Given the description of an element on the screen output the (x, y) to click on. 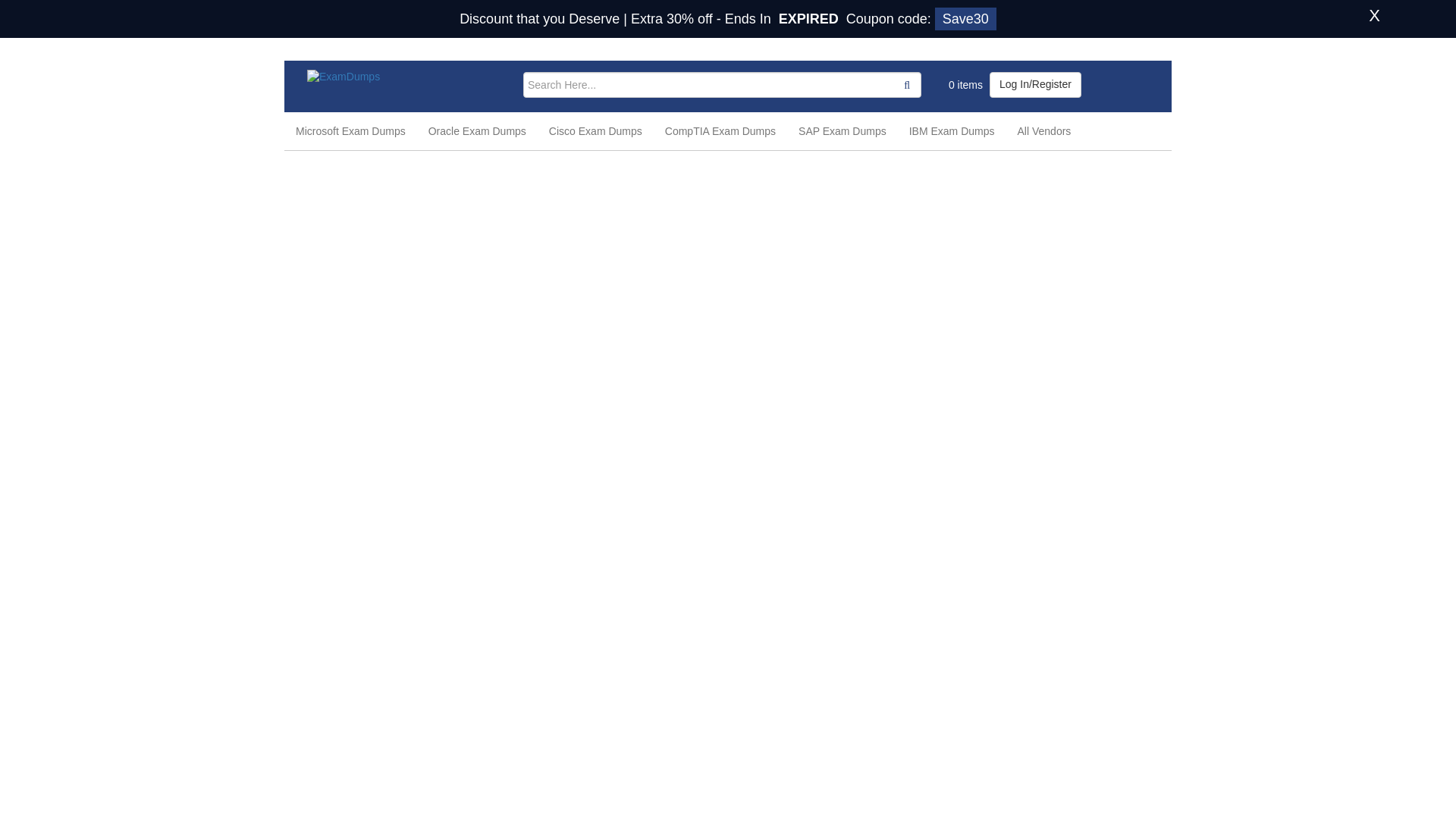
0 items (963, 85)
SAP Exam Dumps (842, 130)
Microsoft Exam Dumps (349, 130)
Cisco Exam Dumps (595, 130)
IBM Exam Dumps (952, 130)
All Vendors (1044, 130)
CompTIA Exam Dumps (720, 130)
Oracle Exam Dumps (476, 130)
